Given the description of an element on the screen output the (x, y) to click on. 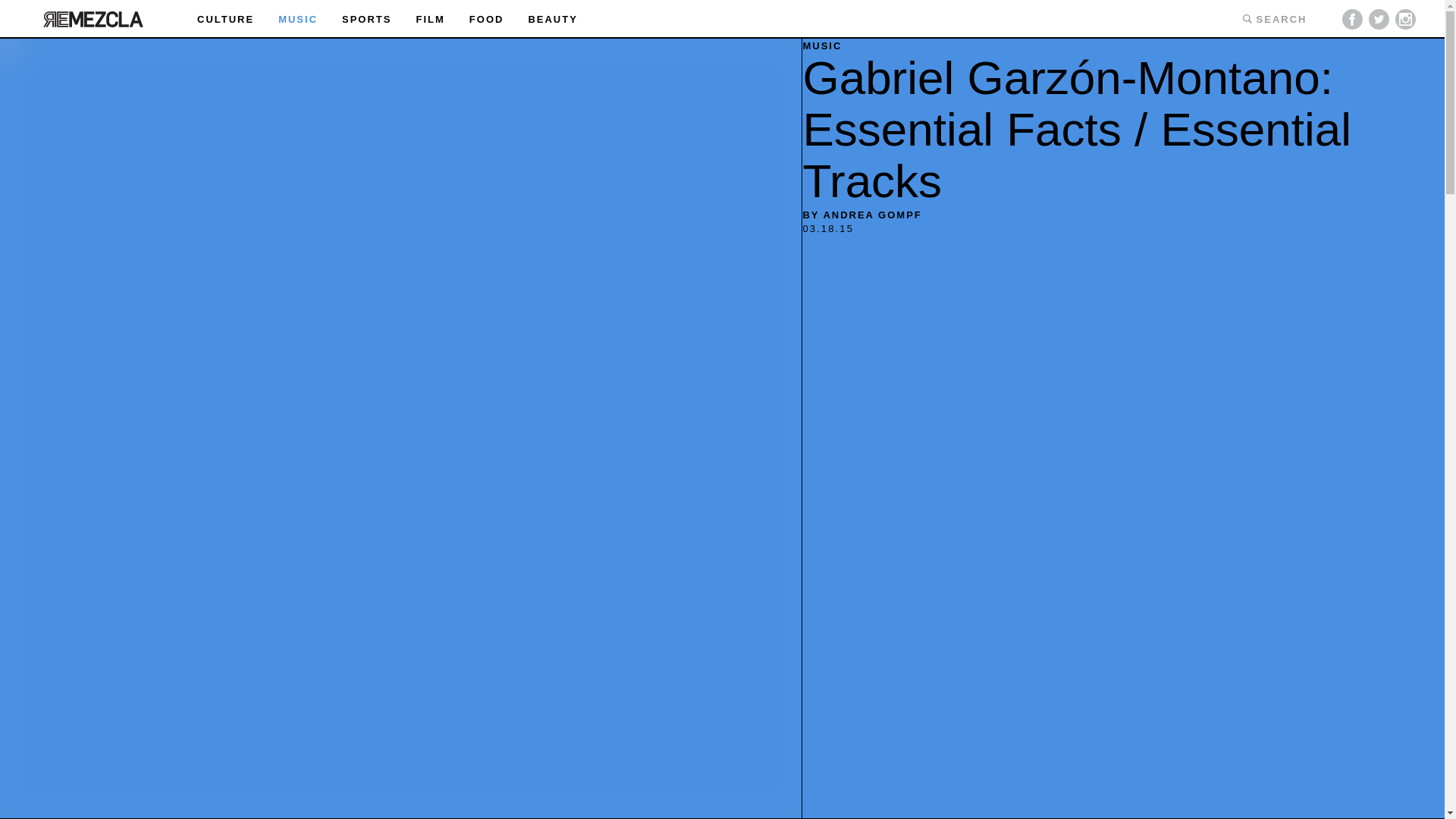
CULTURE (224, 19)
BEAUTY (551, 19)
SPORTS (366, 19)
BY ANDREA GOMPF (861, 214)
FOOD (485, 19)
SEARCH (1274, 18)
MUSIC (297, 19)
MUSIC (821, 45)
